Given the description of an element on the screen output the (x, y) to click on. 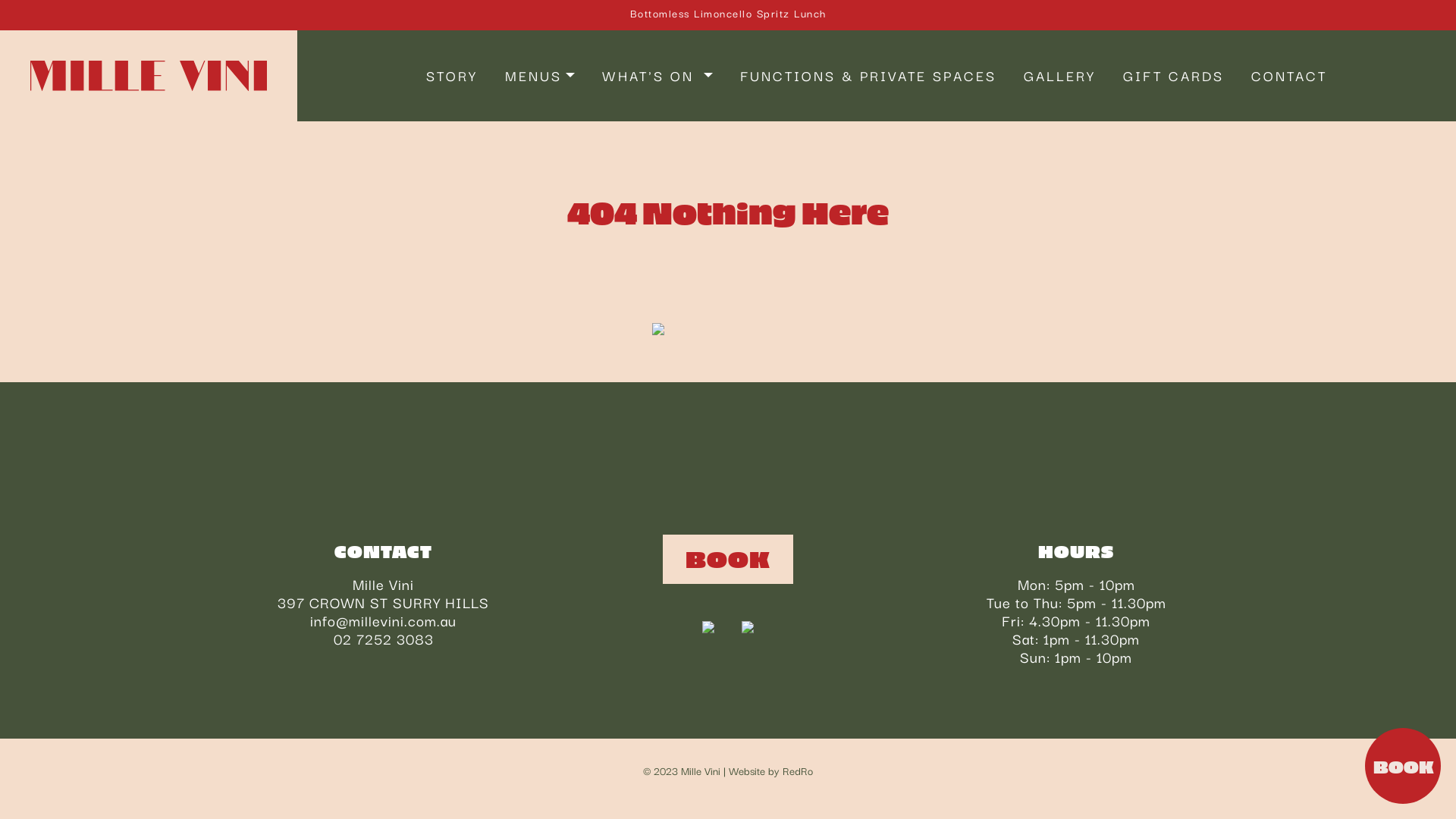
FUNCTIONS & PRIVATE SPACES Element type: text (868, 75)
CONTACT Element type: text (1289, 75)
info@millevini.com.au Element type: text (383, 619)
BOOK Element type: text (727, 558)
BOOK Element type: text (1402, 765)
Website by RedRo Element type: text (770, 770)
MENUS Element type: text (539, 75)
02 7252 3083 Element type: text (383, 638)
GALLERY Element type: text (1059, 75)
GIFT CARDS Element type: text (1173, 75)
STORY Element type: text (451, 75)
WHAT'S ON Element type: text (657, 75)
